Given the description of an element on the screen output the (x, y) to click on. 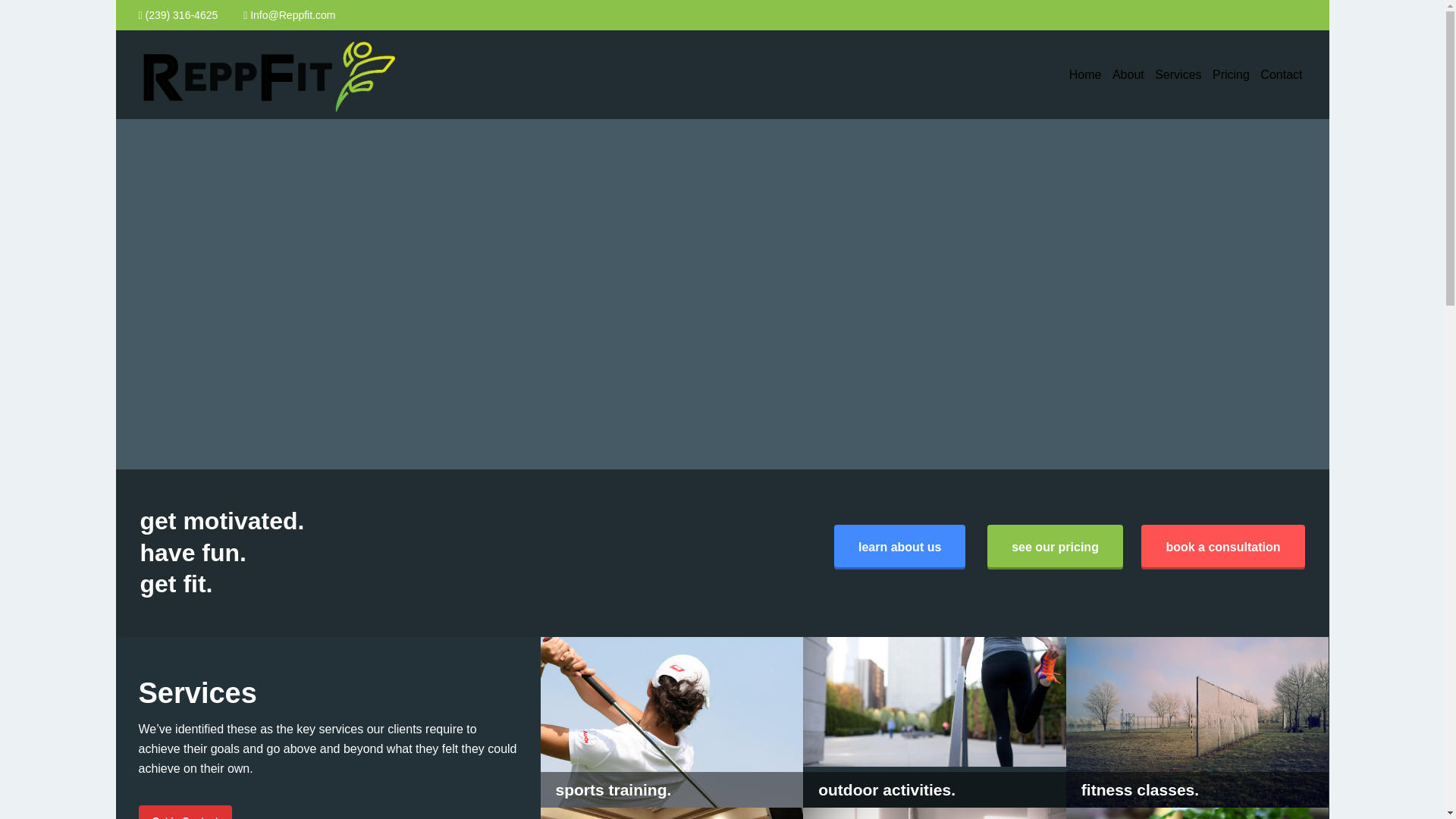
learn about us (899, 546)
Services (1178, 74)
Search (42, 18)
see our pricing (1054, 546)
ReppFit Logo (266, 109)
Contact (1281, 74)
Get in Contact (184, 812)
book a consultation (1222, 546)
Get in Contact (184, 812)
